Given the description of an element on the screen output the (x, y) to click on. 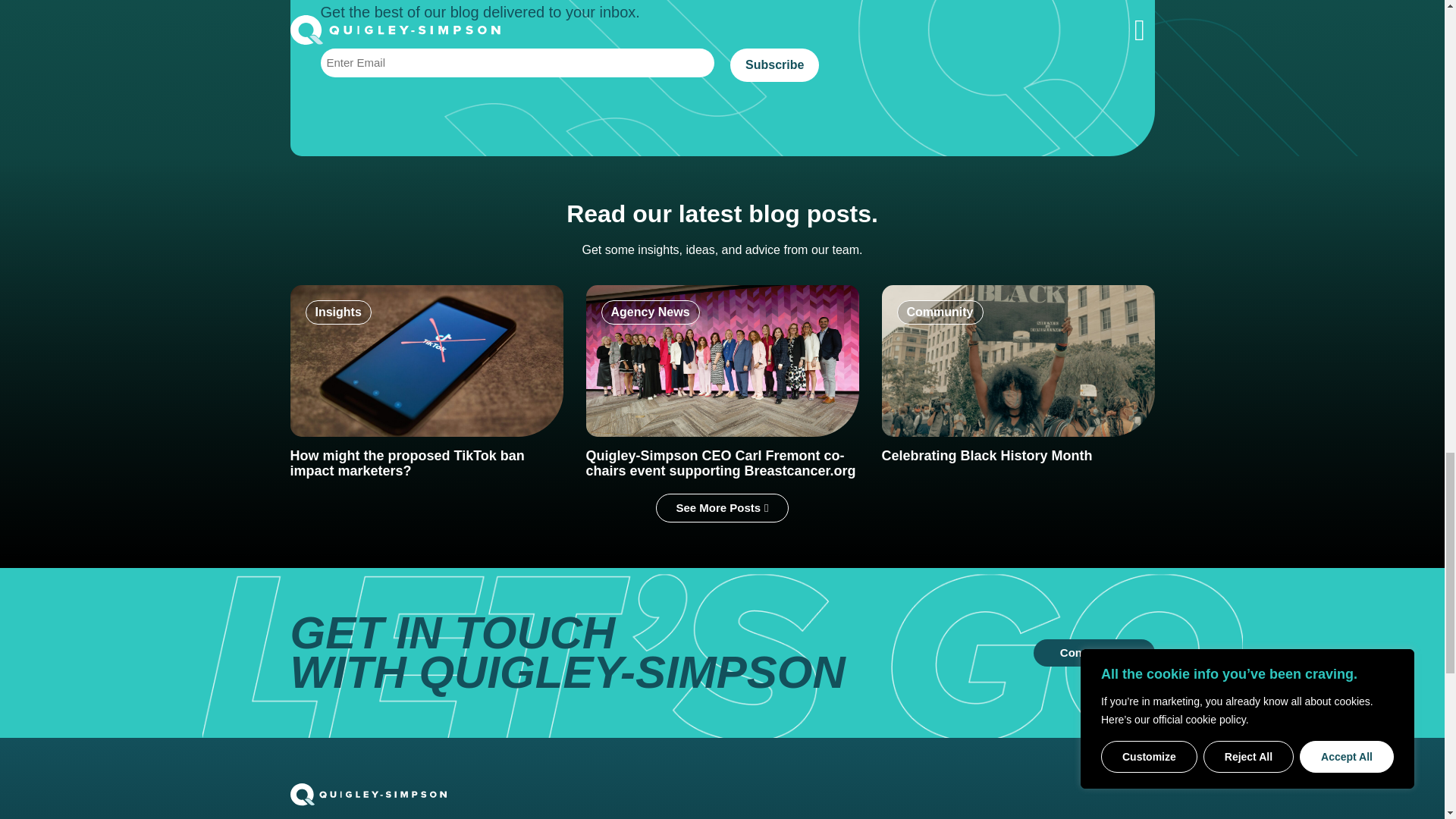
Subscribe (774, 64)
